Given the description of an element on the screen output the (x, y) to click on. 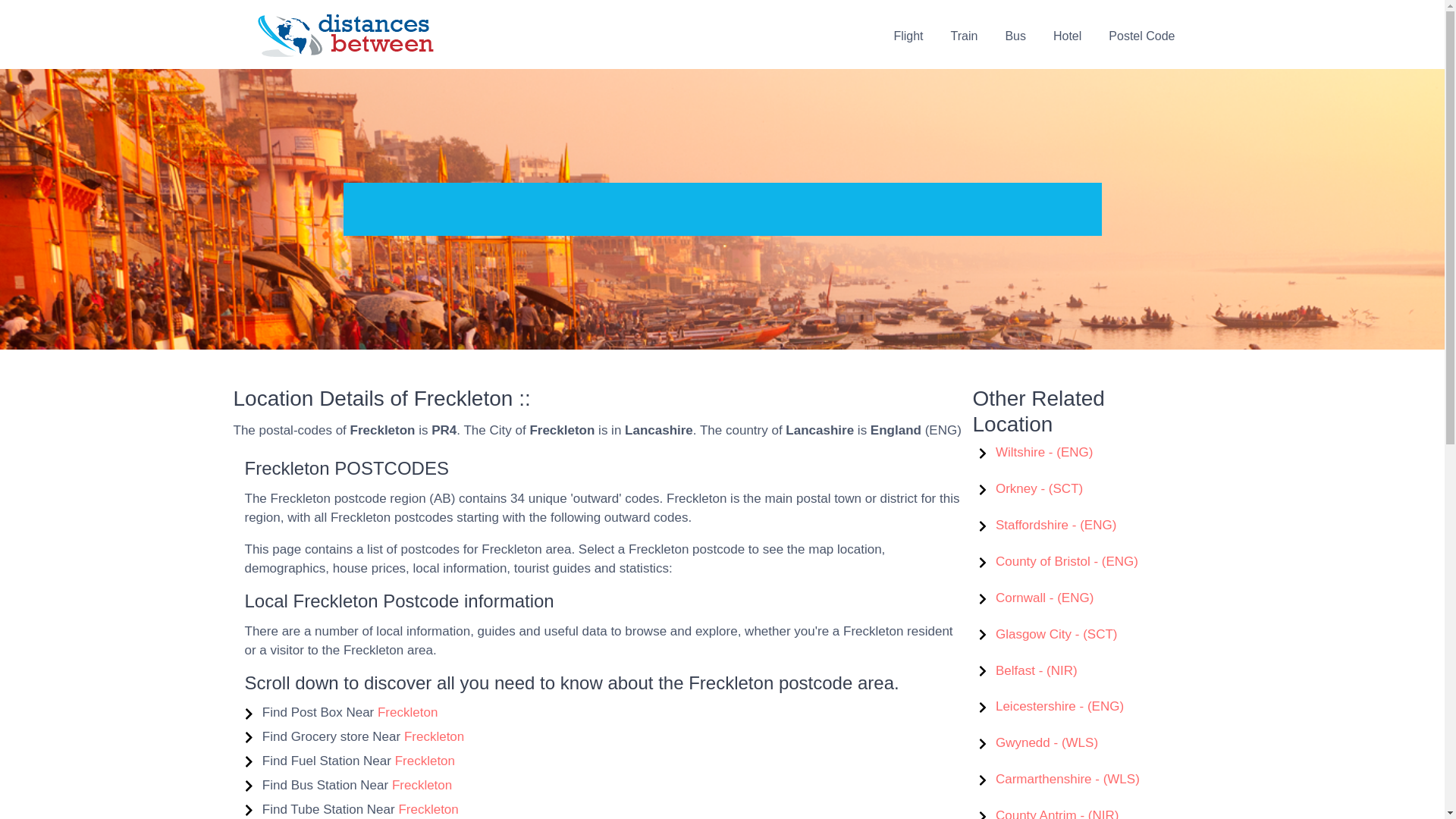
Freckleton (427, 809)
Freckleton (421, 785)
Freckleton (434, 736)
Freckleton (424, 760)
Postel Code (1141, 34)
Bus (1015, 34)
Flight (907, 34)
Train (964, 34)
Hotel (1066, 34)
Freckleton (407, 712)
